Given the description of an element on the screen output the (x, y) to click on. 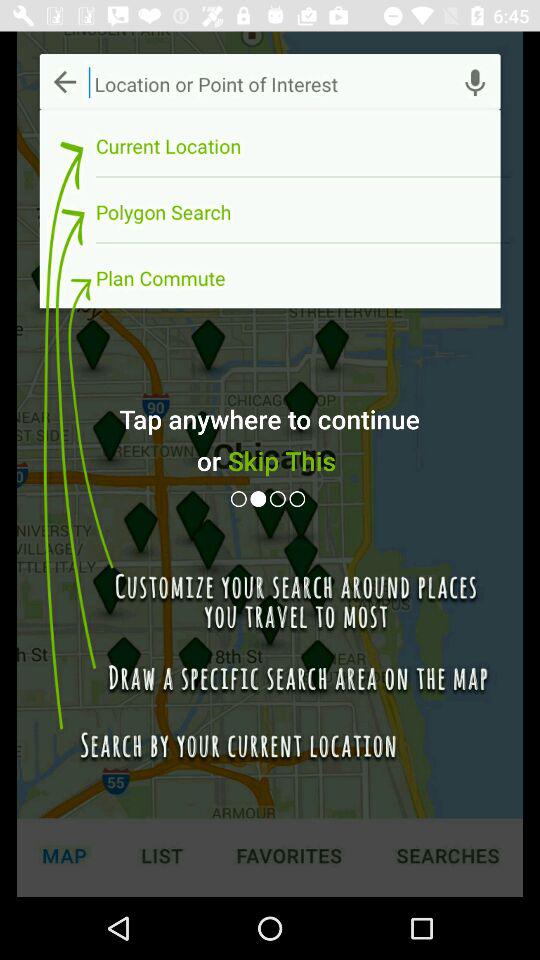
toggle a select option (299, 498)
